Given the description of an element on the screen output the (x, y) to click on. 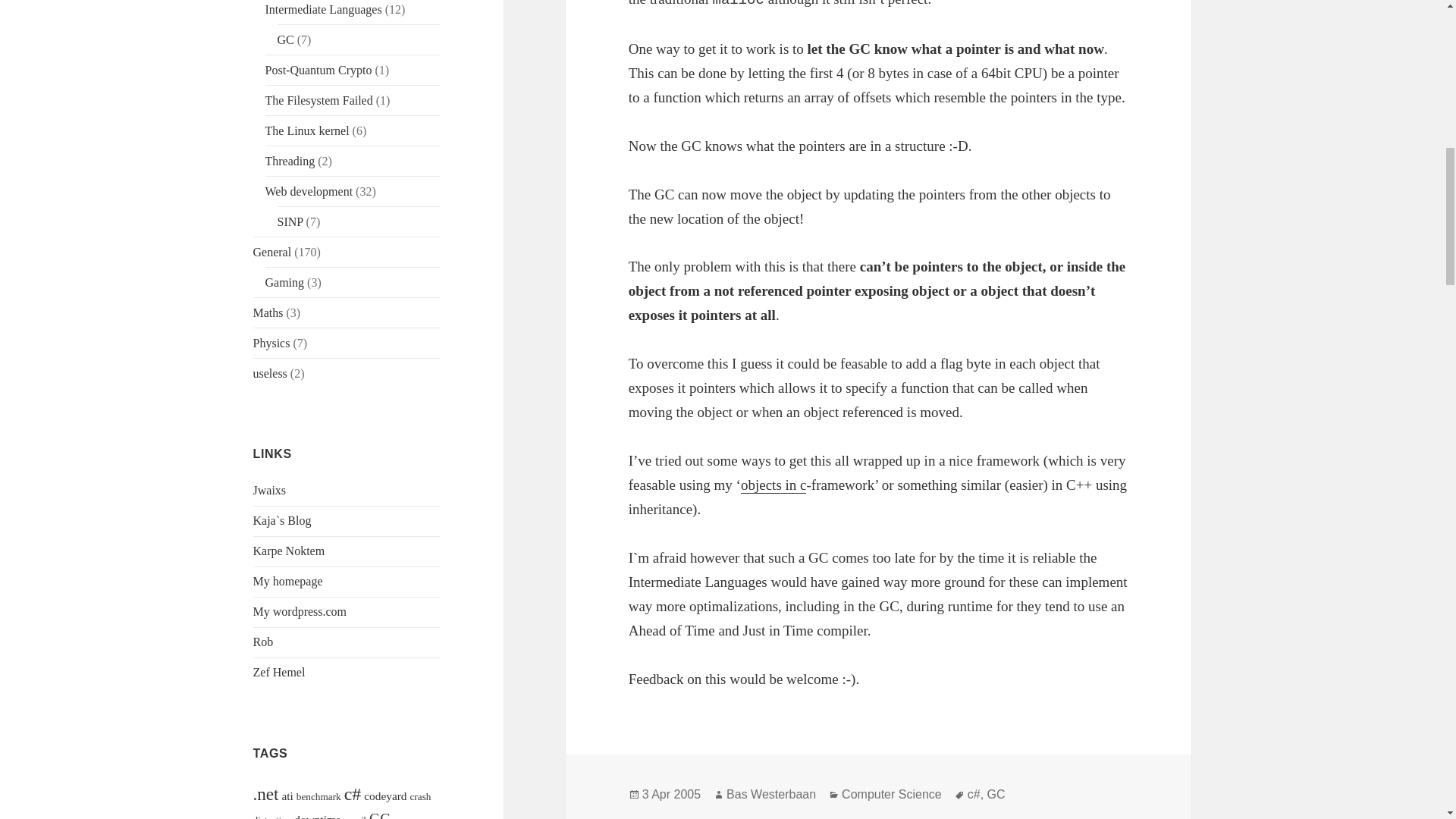
My homepage (288, 581)
Maths (268, 312)
Post-Quantum Crypto (318, 69)
Zef Hemel (279, 671)
My wordpress.com (300, 611)
.net (266, 793)
useless (269, 373)
Physics (271, 342)
benchmark (318, 796)
Jwaixs (269, 490)
The Linux kernel (306, 130)
Threading (289, 160)
The Filesystem Failed (318, 100)
GC (286, 39)
SINP (290, 221)
